Given the description of an element on the screen output the (x, y) to click on. 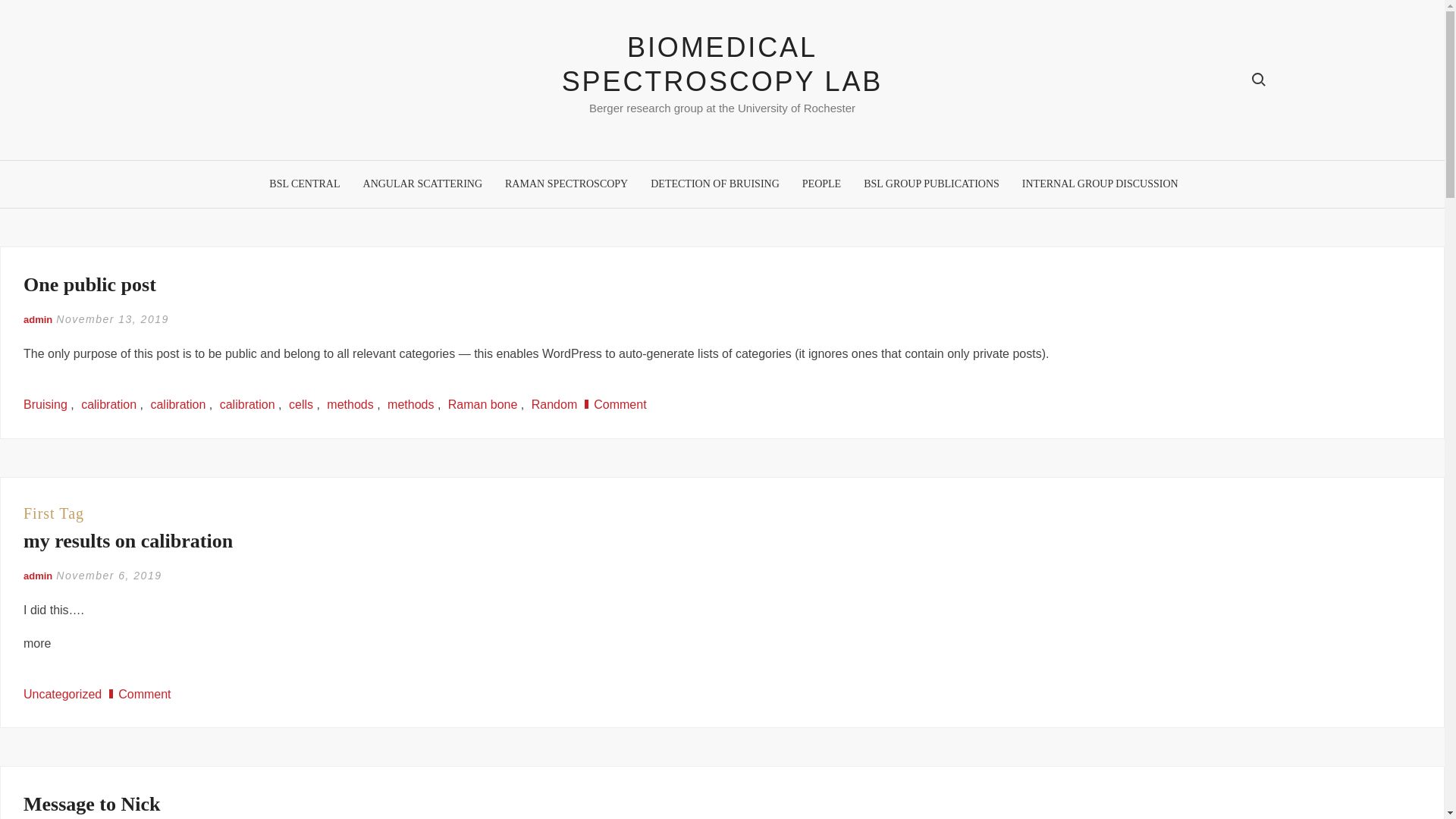
PEOPLE (820, 183)
calibration (108, 404)
Bruising (44, 404)
calibration (247, 404)
BSL CENTRAL (303, 183)
RAMAN SPECTROSCOPY (566, 183)
methods (349, 404)
Uncategorized (62, 694)
calibration (177, 404)
methods (410, 404)
